Given the description of an element on the screen output the (x, y) to click on. 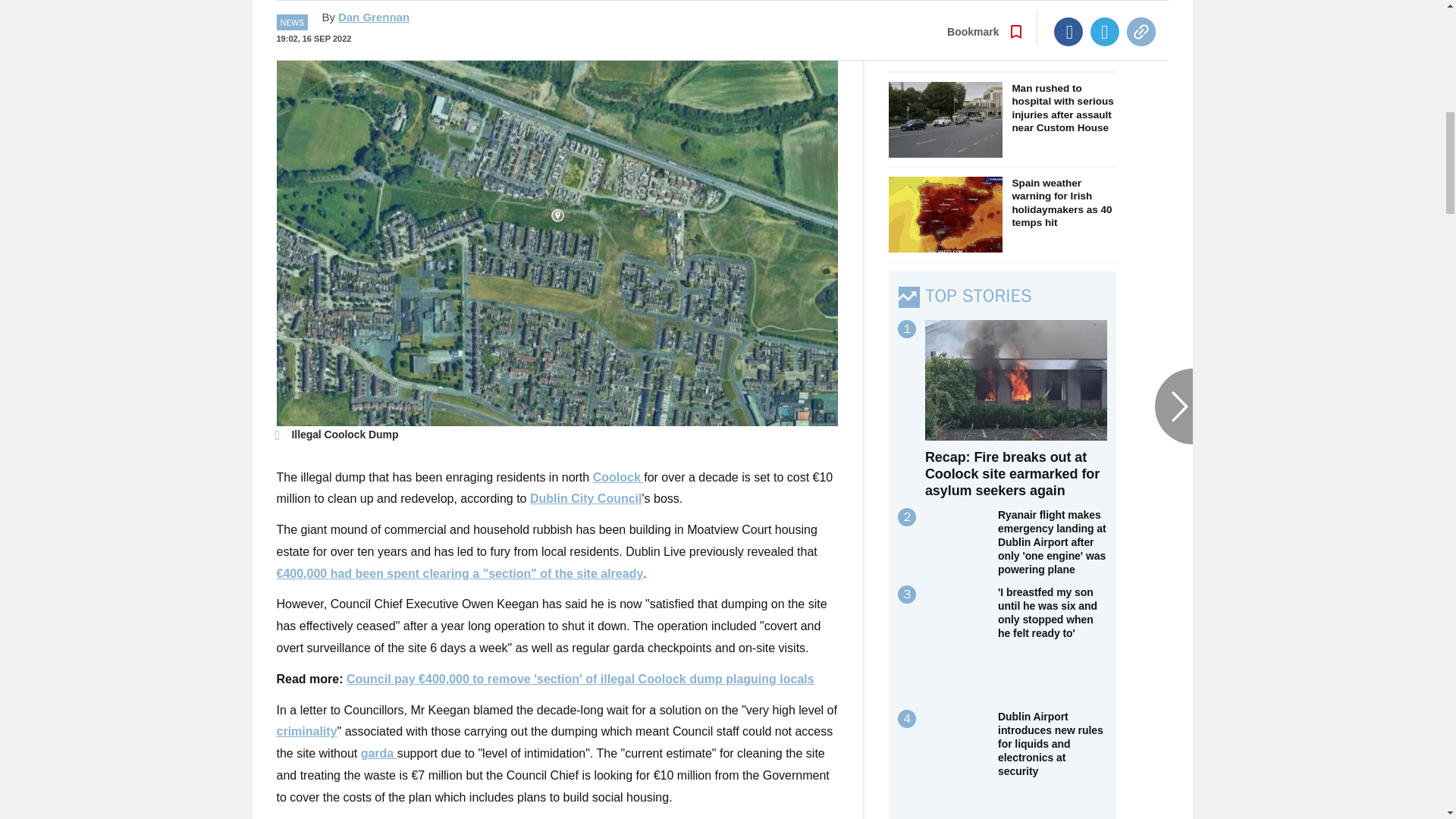
Twitter (1104, 10)
Facebook (1068, 10)
